Given the description of an element on the screen output the (x, y) to click on. 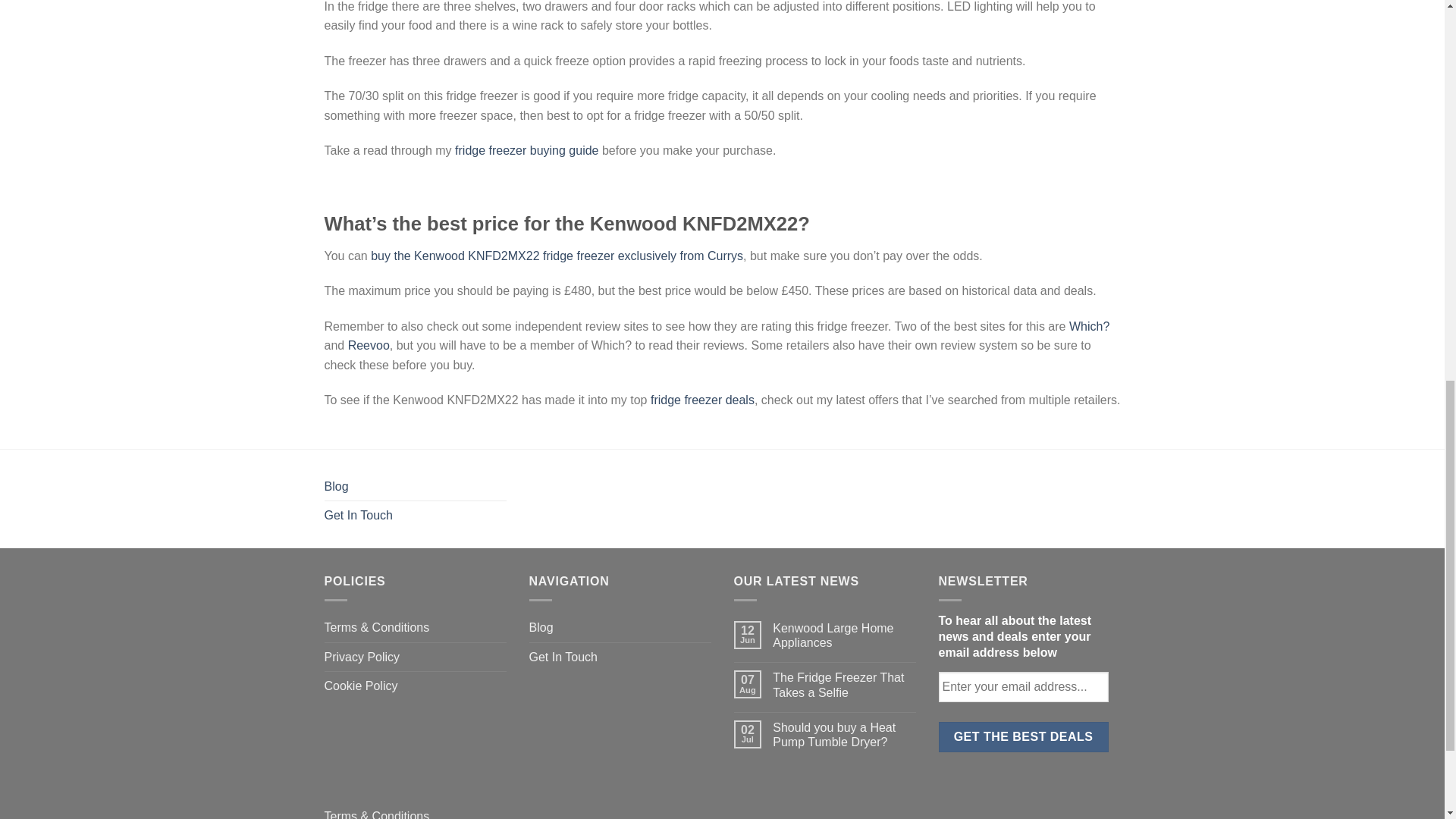
The Fridge Freezer That Takes a Selfie (844, 684)
Kenwood Large Home Appliances (844, 635)
Get the Best Deals (1023, 736)
Should you buy a Heat Pump Tumble Dryer? (844, 734)
